Given the description of an element on the screen output the (x, y) to click on. 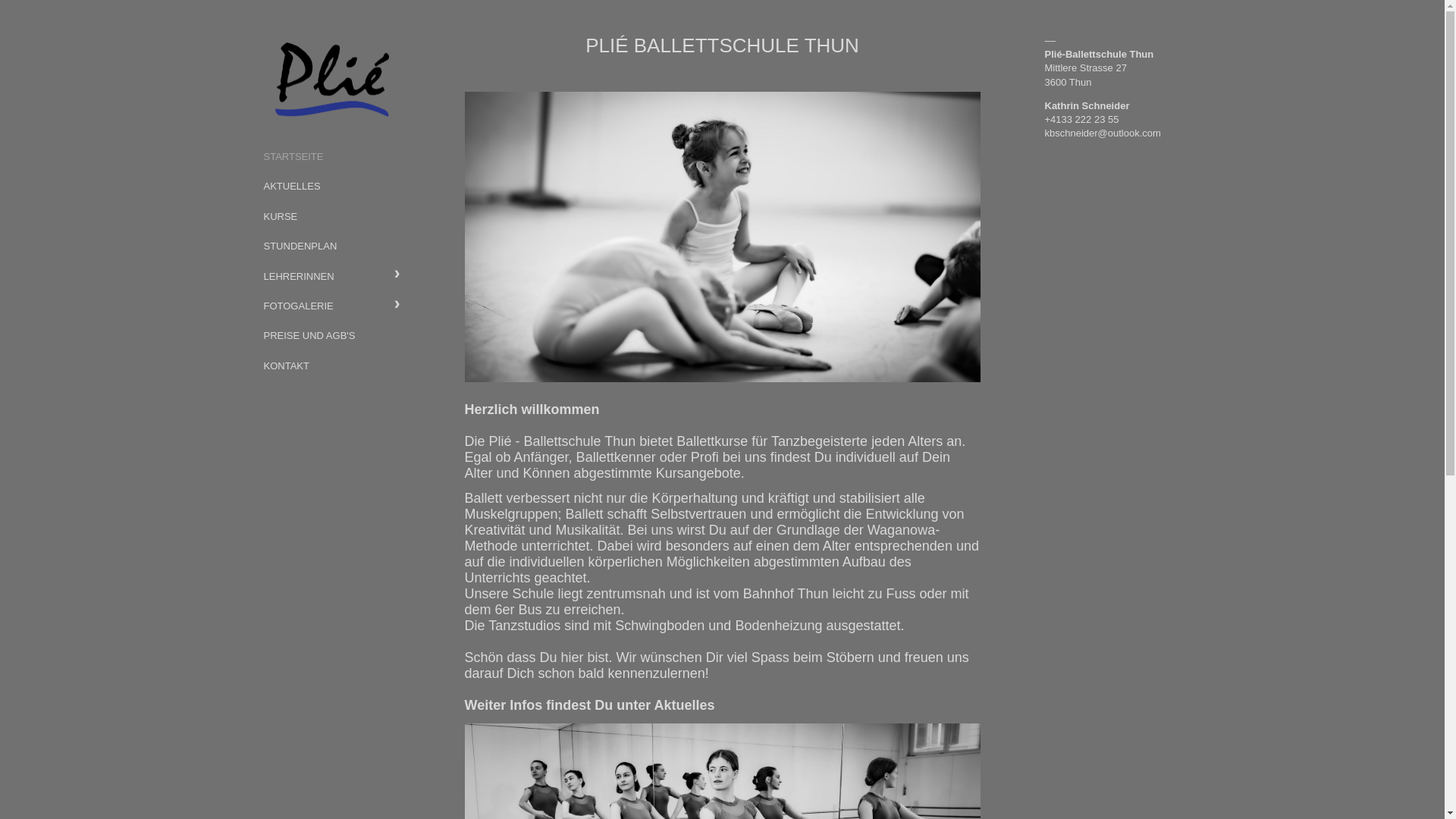
PREISE UND AGB'S Element type: text (331, 334)
LEHRERINNEN Element type: text (331, 275)
KONTAKT Element type: text (331, 364)
FOTOGALERIE Element type: text (331, 305)
STARTSEITE Element type: text (331, 155)
AKTUELLES Element type: text (331, 185)
STUNDENPLAN Element type: text (331, 245)
KURSE Element type: text (331, 215)
  Element type: text (331, 78)
